Given the description of an element on the screen output the (x, y) to click on. 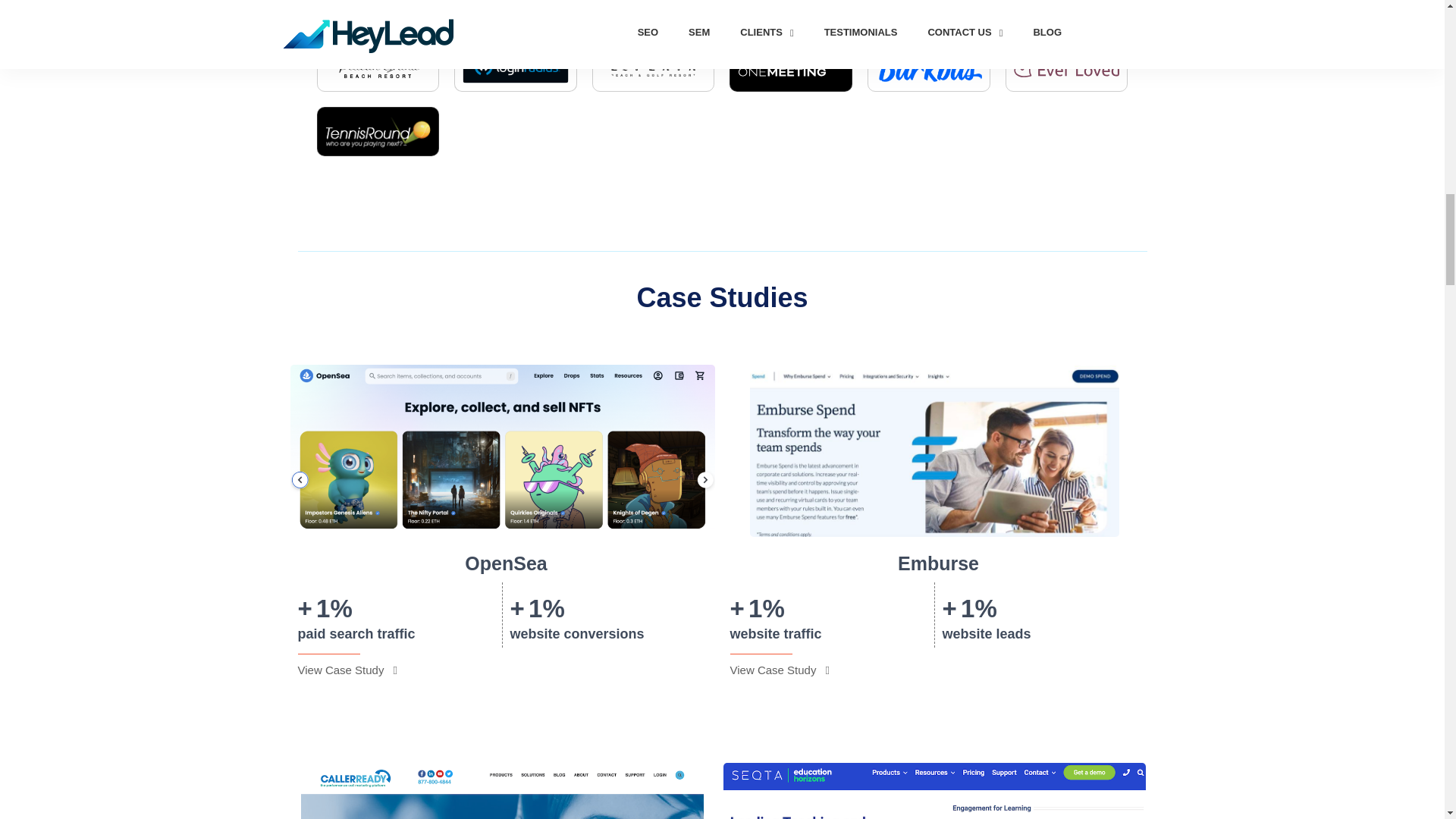
callerready case study (502, 790)
opensea case study (501, 450)
emburse case study (934, 450)
